Given the description of an element on the screen output the (x, y) to click on. 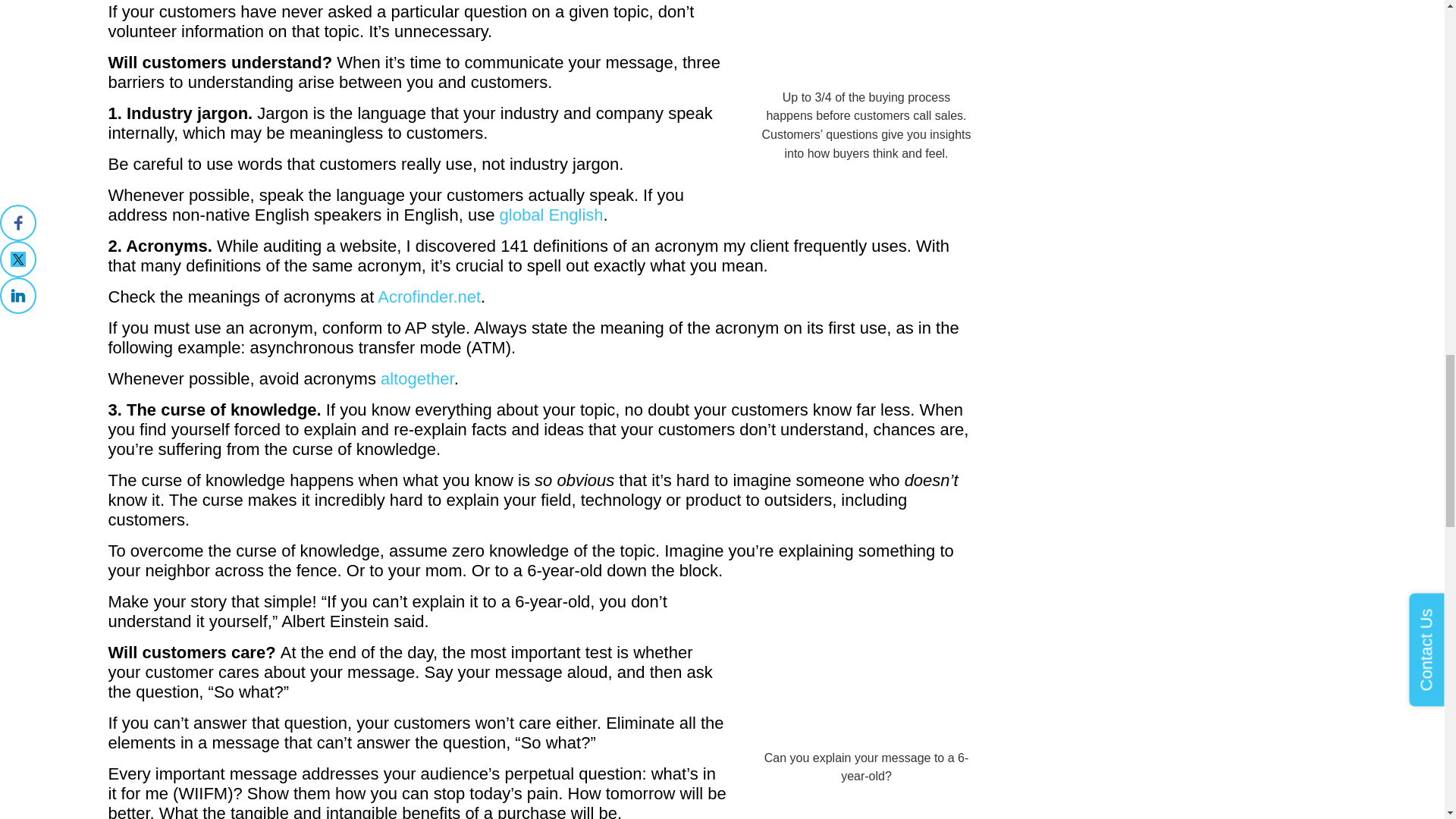
global English (551, 214)
Acrofinder.net (428, 296)
altogether (417, 378)
